Given the description of an element on the screen output the (x, y) to click on. 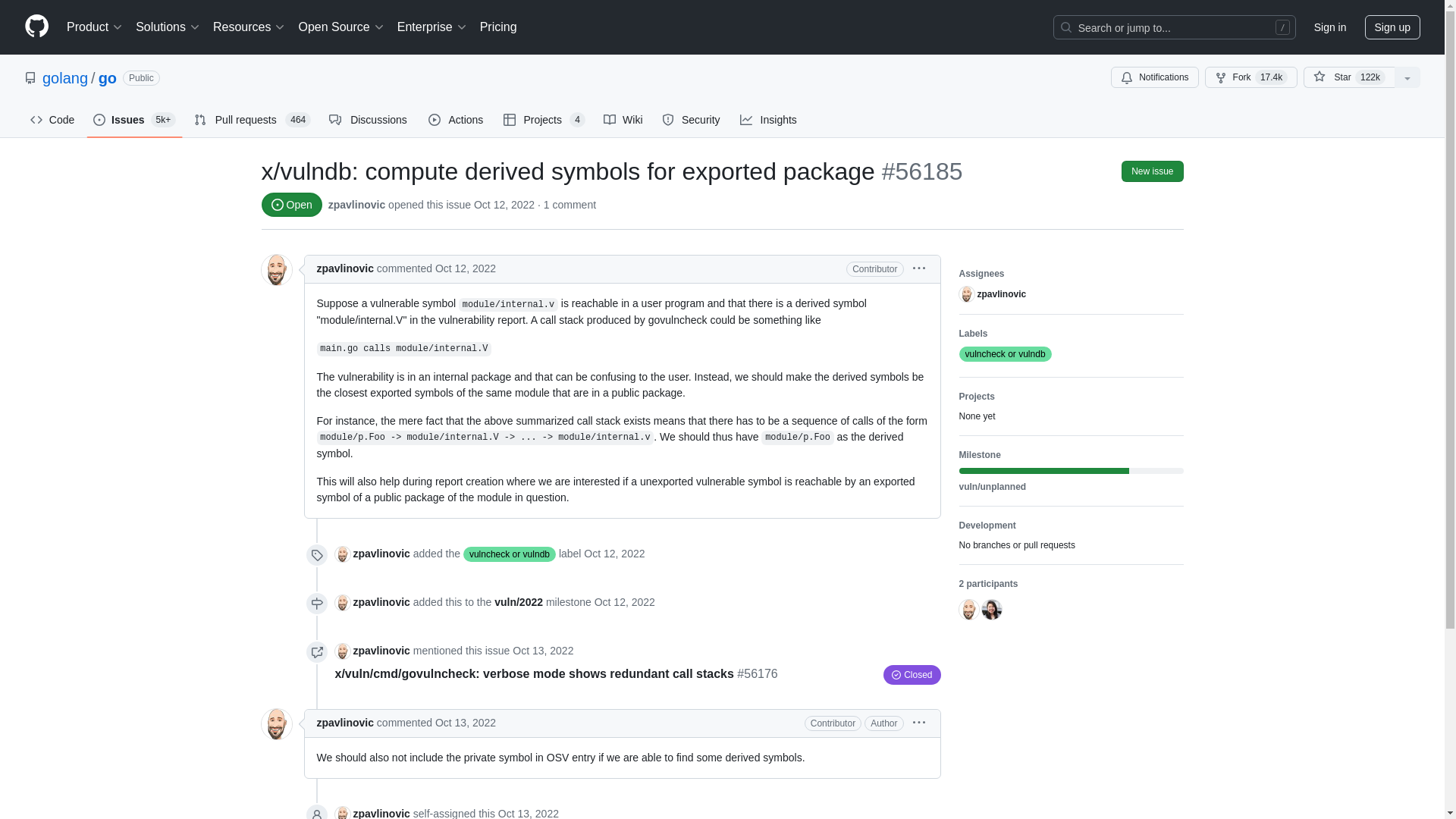
464 (298, 119)
Product (95, 27)
Resources (249, 27)
Status: Open (290, 204)
17,424 (1271, 77)
121,919 (1370, 77)
4 (577, 119)
Status: Closed (911, 674)
Open Source (341, 27)
